Given the description of an element on the screen output the (x, y) to click on. 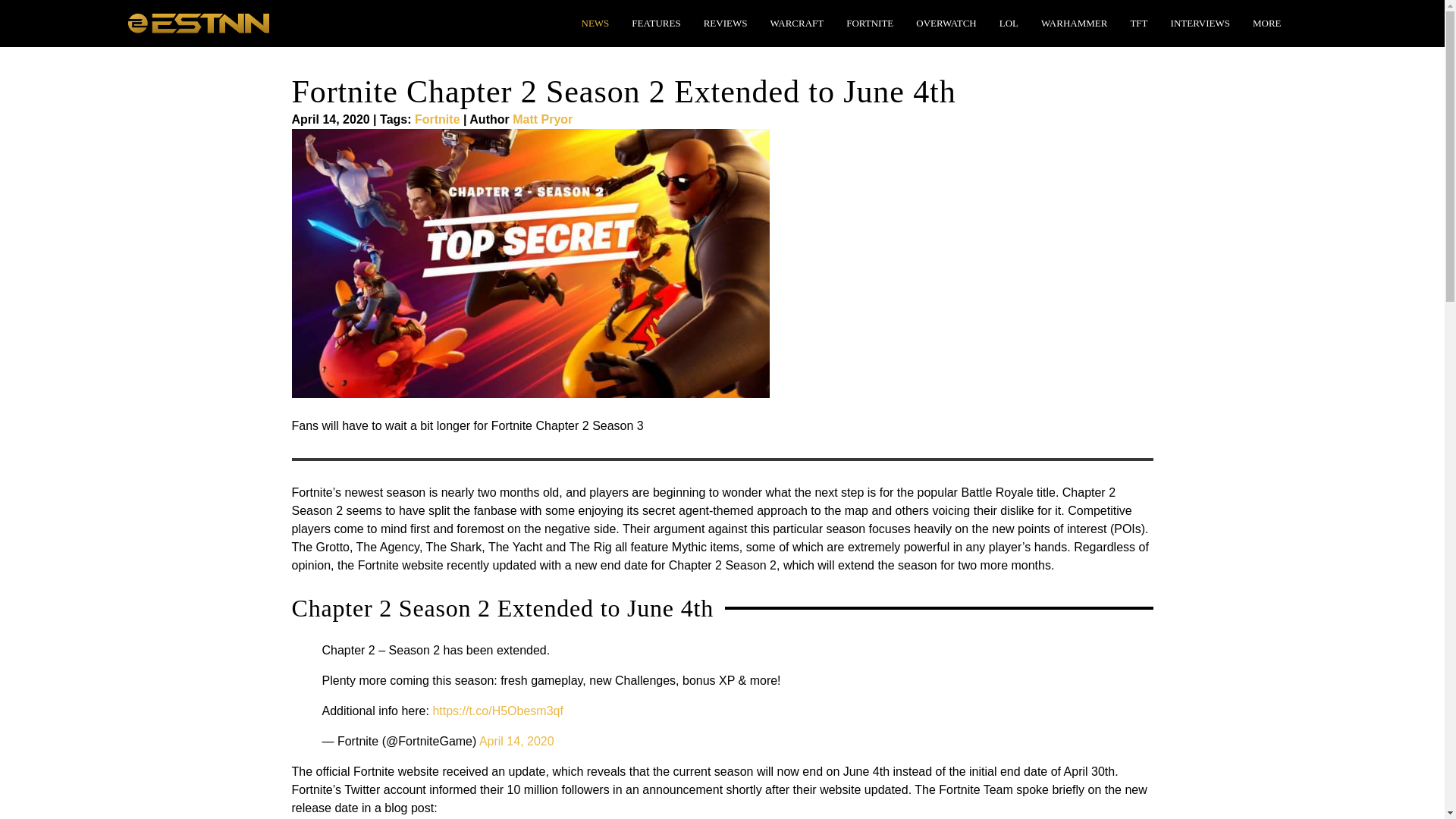
FORTNITE (869, 23)
Fortnite (437, 119)
WARCRAFT (796, 23)
LOL (1008, 23)
REVIEWS (725, 23)
Posts by Matt Pryor (542, 119)
April 14, 2020 (516, 740)
TFT (1138, 23)
NEWS (594, 23)
Home (197, 21)
